Given the description of an element on the screen output the (x, y) to click on. 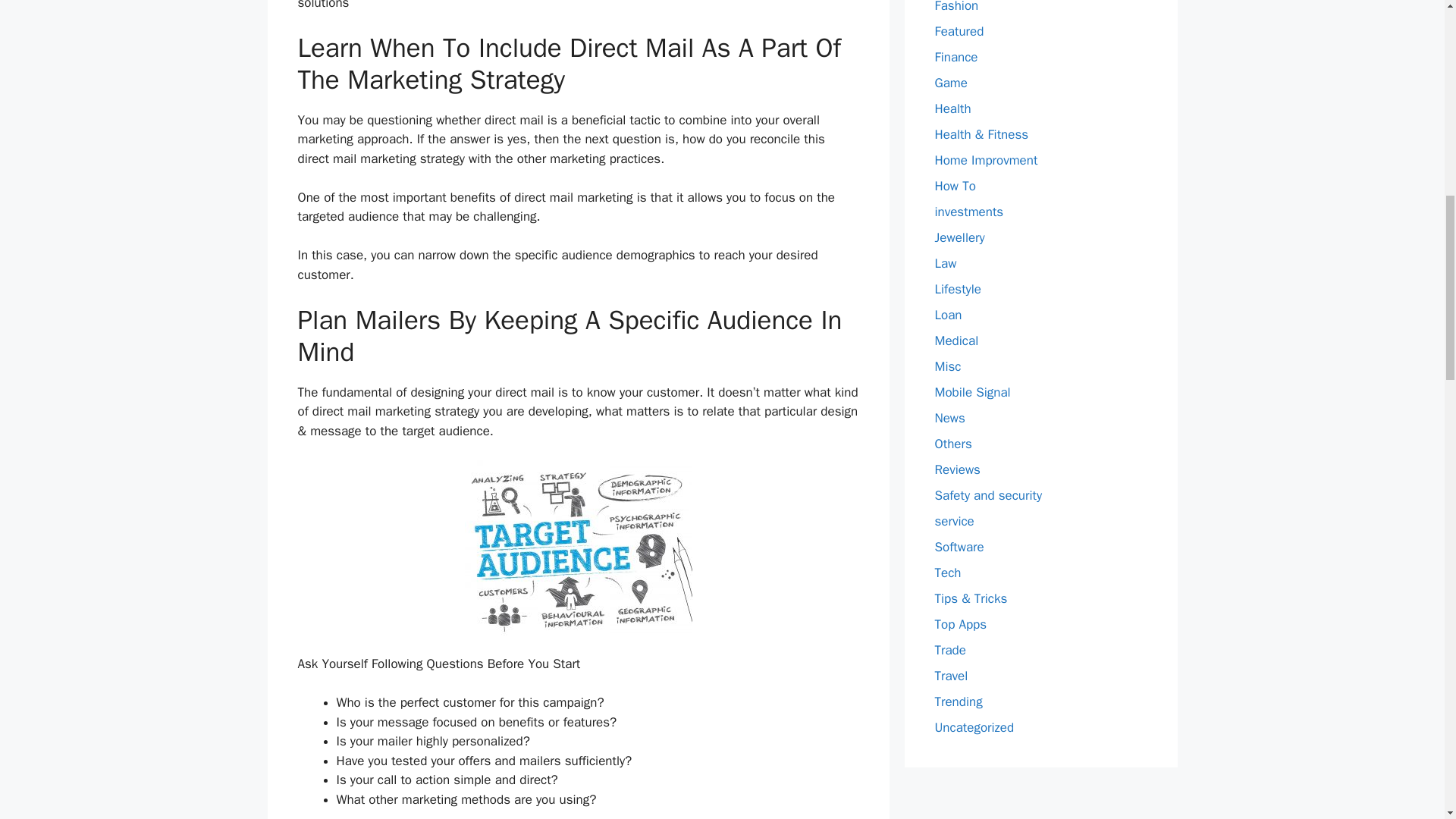
Featured (959, 31)
Fashion (956, 6)
